Given the description of an element on the screen output the (x, y) to click on. 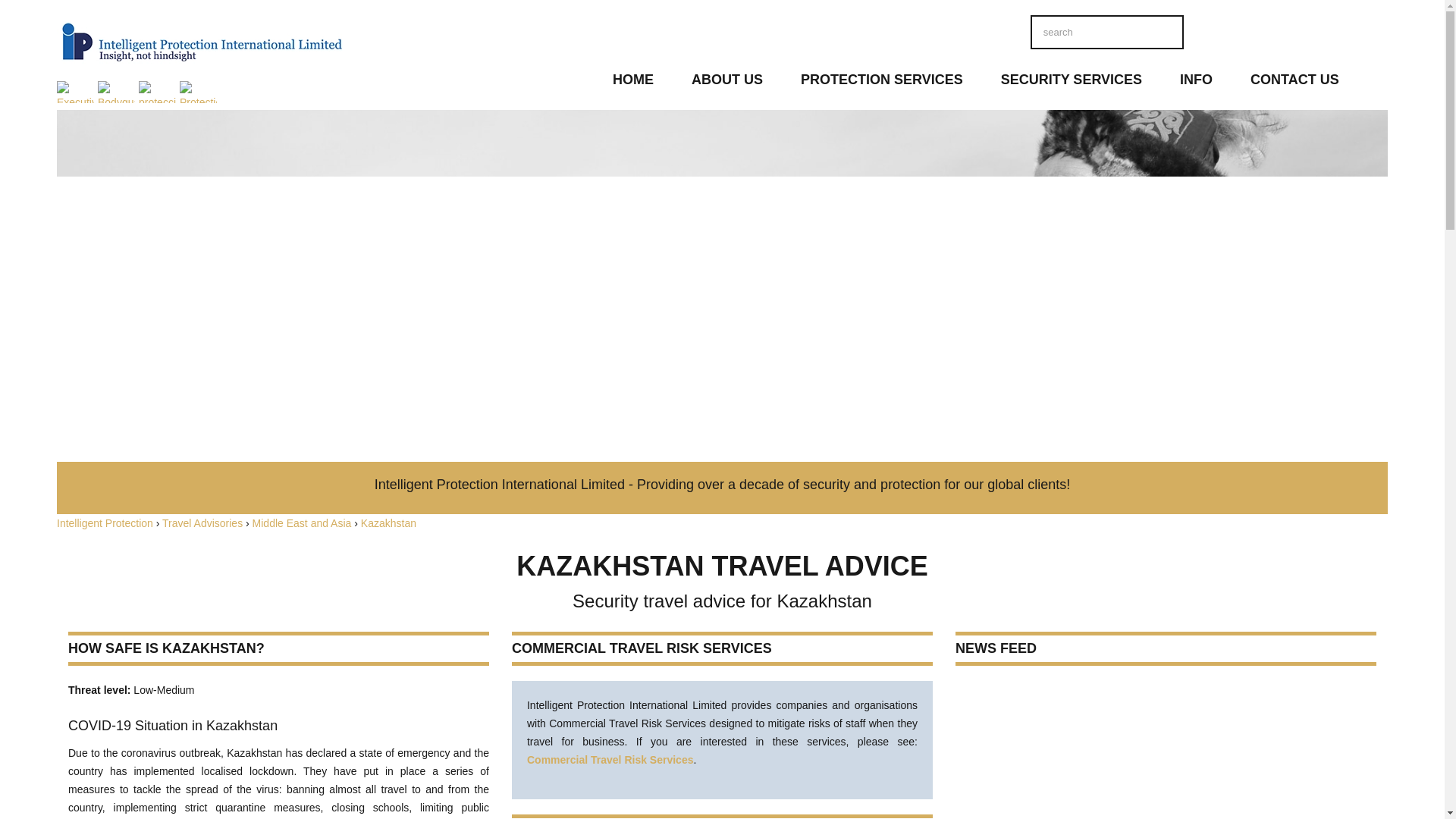
HOME (633, 83)
SECURITY SERVICES (1070, 83)
ABOUT US (726, 83)
PROTECTION SERVICES (881, 83)
INFO (1195, 83)
